Given the description of an element on the screen output the (x, y) to click on. 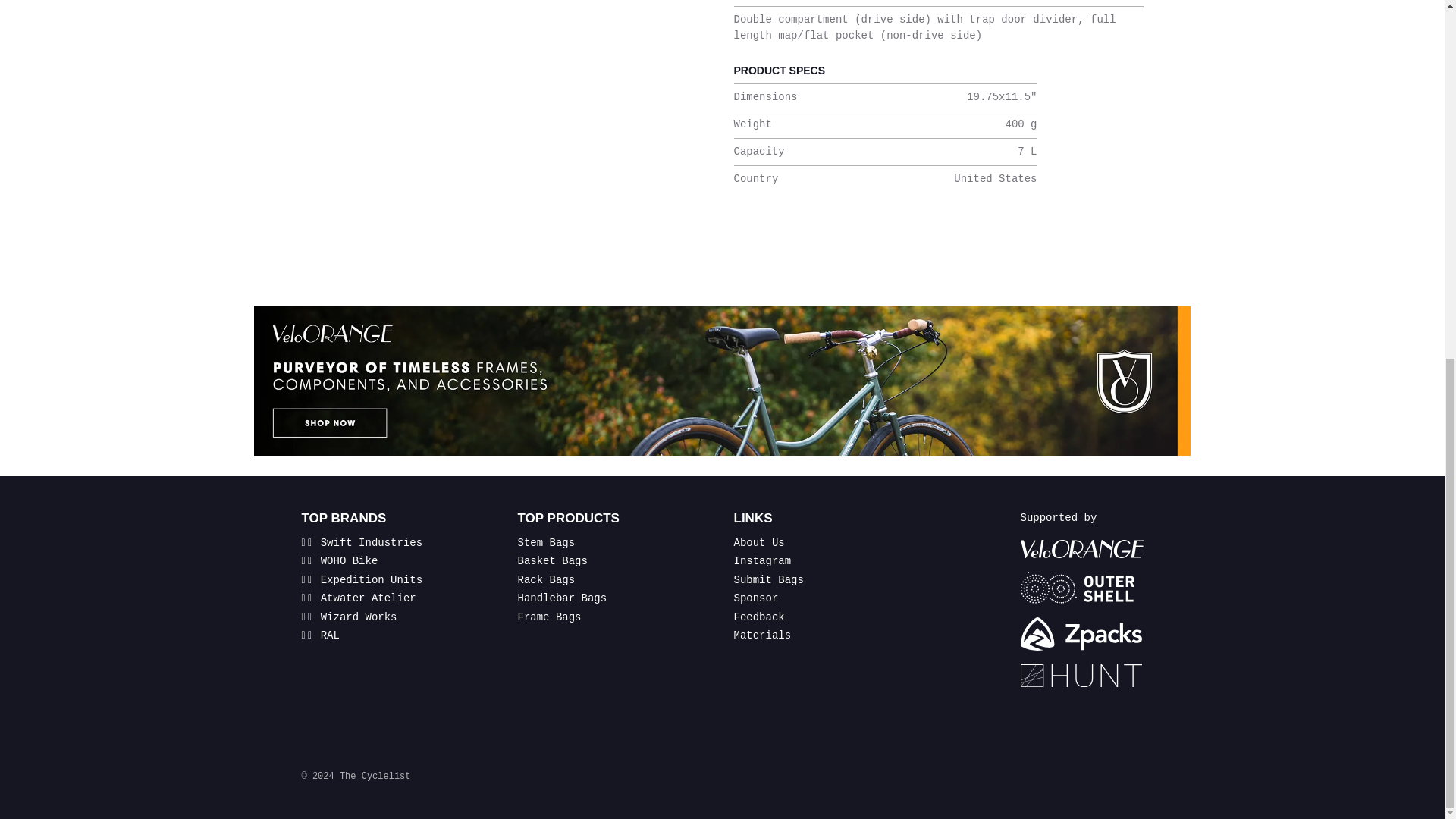
Submit Bags (768, 580)
Handlebar Bags (561, 598)
Sponsor (755, 598)
Hunt Wheels (1081, 675)
Feedback (758, 616)
Stem Bags (545, 542)
Basket Bags (551, 561)
Rack Bags (545, 580)
Outer Shell (1081, 587)
Zpacks (1081, 633)
Frame Bags (548, 616)
Materials (762, 635)
Velo Orange (1081, 548)
Instagram (762, 561)
